Given the description of an element on the screen output the (x, y) to click on. 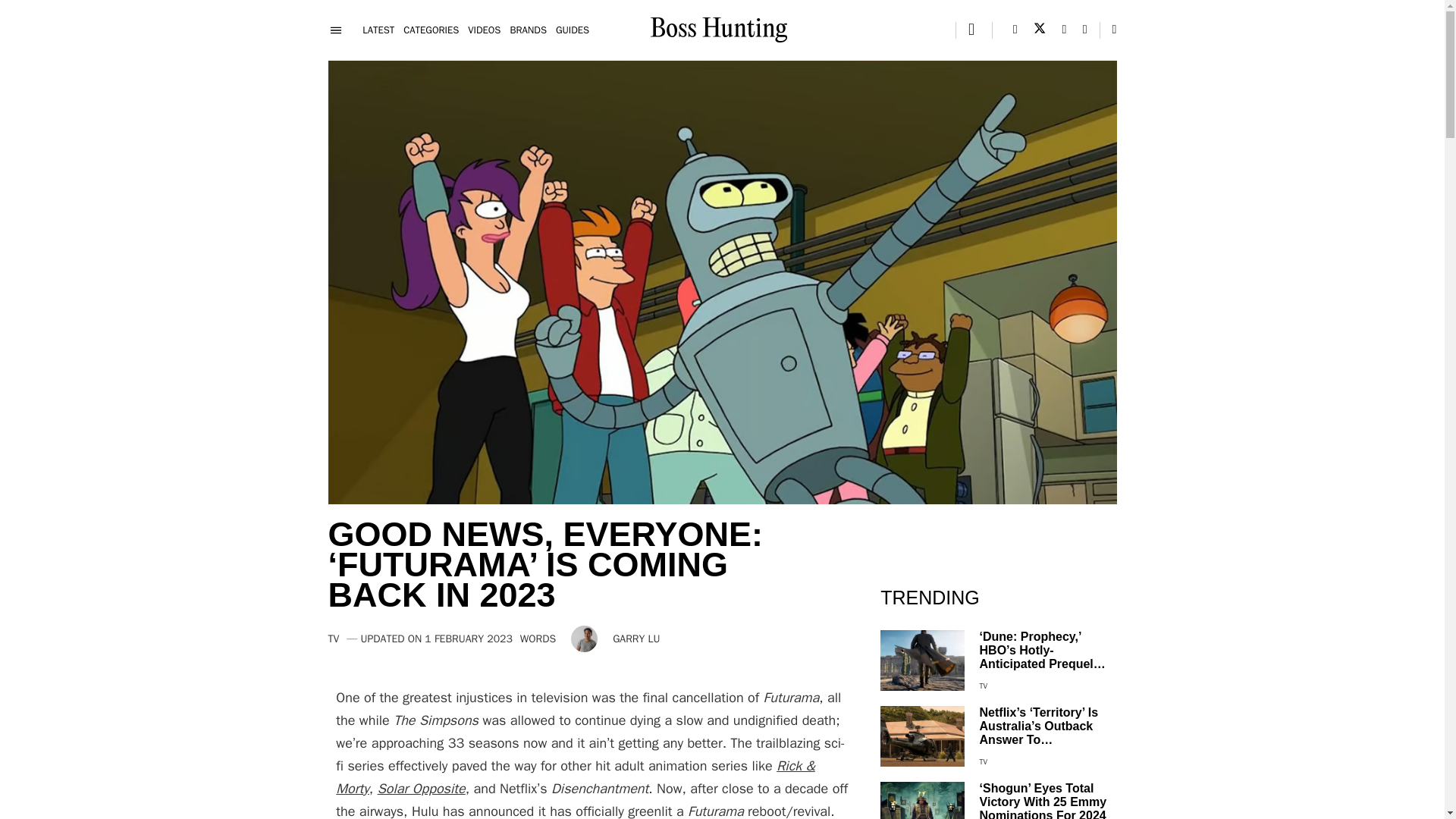
CATEGORIES (430, 30)
LATEST (378, 30)
